Given the description of an element on the screen output the (x, y) to click on. 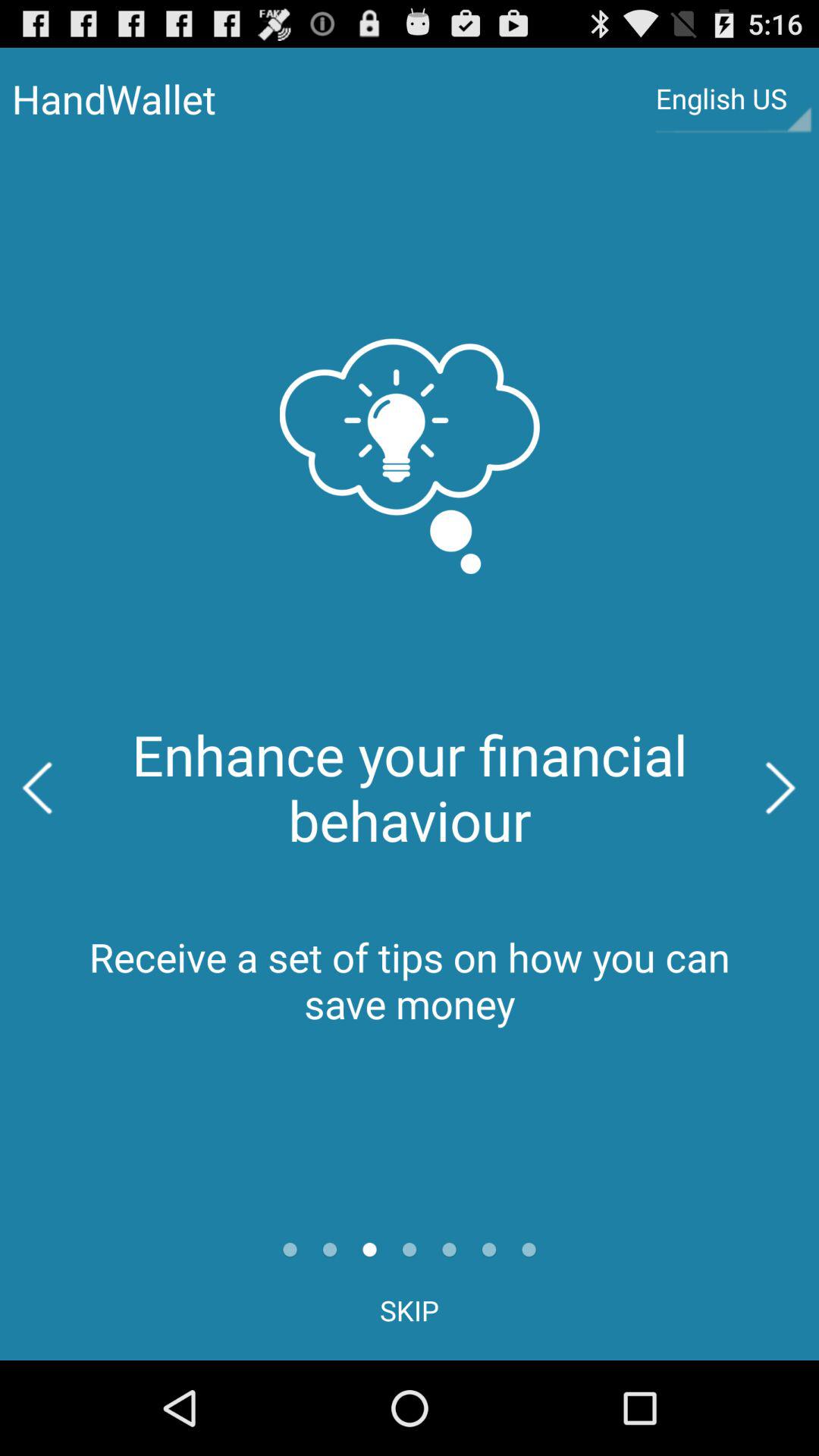
press the item to the right of handwallet (733, 98)
